Given the description of an element on the screen output the (x, y) to click on. 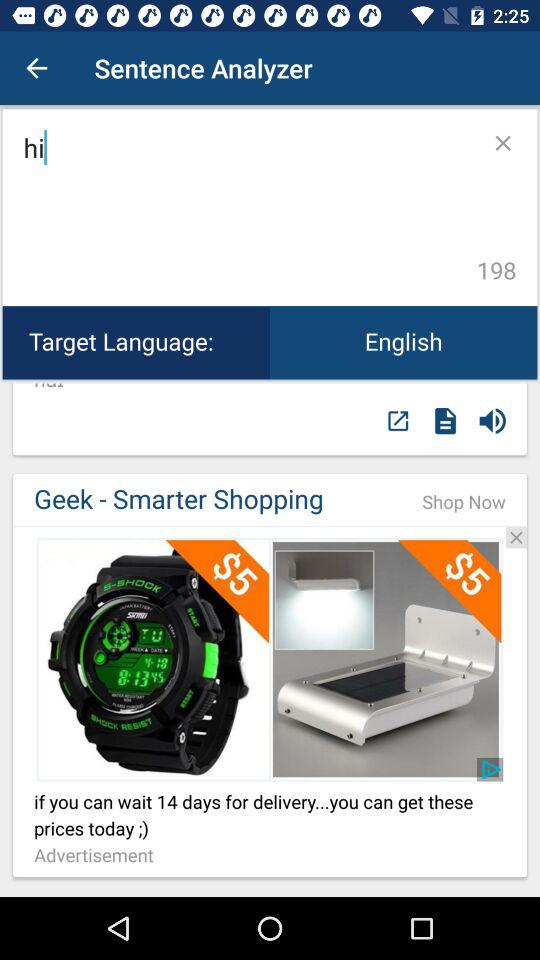
turn off the icon below hi (403, 342)
